Given the description of an element on the screen output the (x, y) to click on. 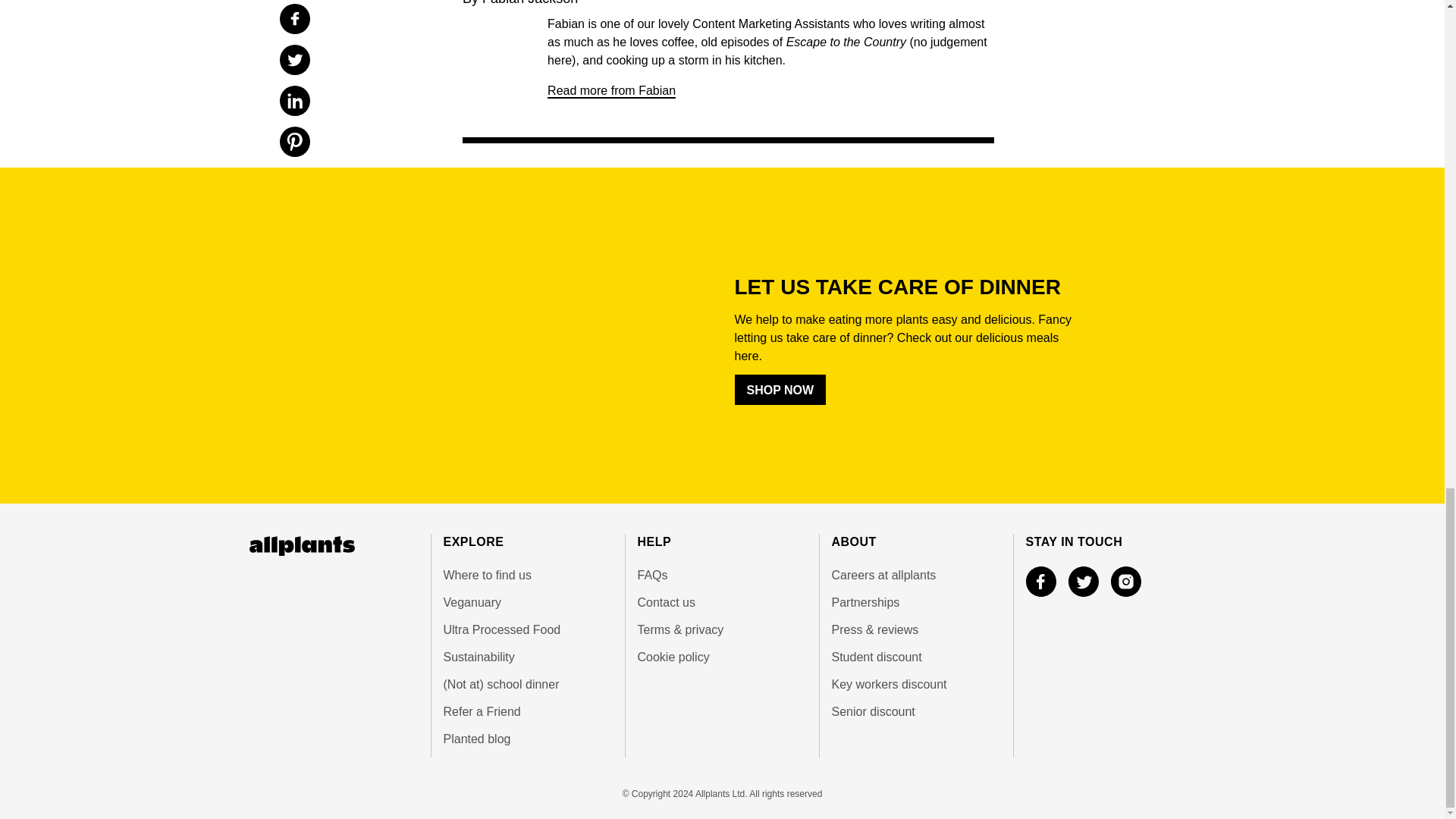
Ultra Processed Food (526, 629)
Planted blog (526, 739)
Cookie policy (721, 657)
Veganuary (526, 602)
Senior discount (915, 711)
Student discount (915, 657)
Careers at allplants (915, 575)
Key workers discount (915, 684)
Partnerships (915, 602)
Where to find us (526, 575)
